Given the description of an element on the screen output the (x, y) to click on. 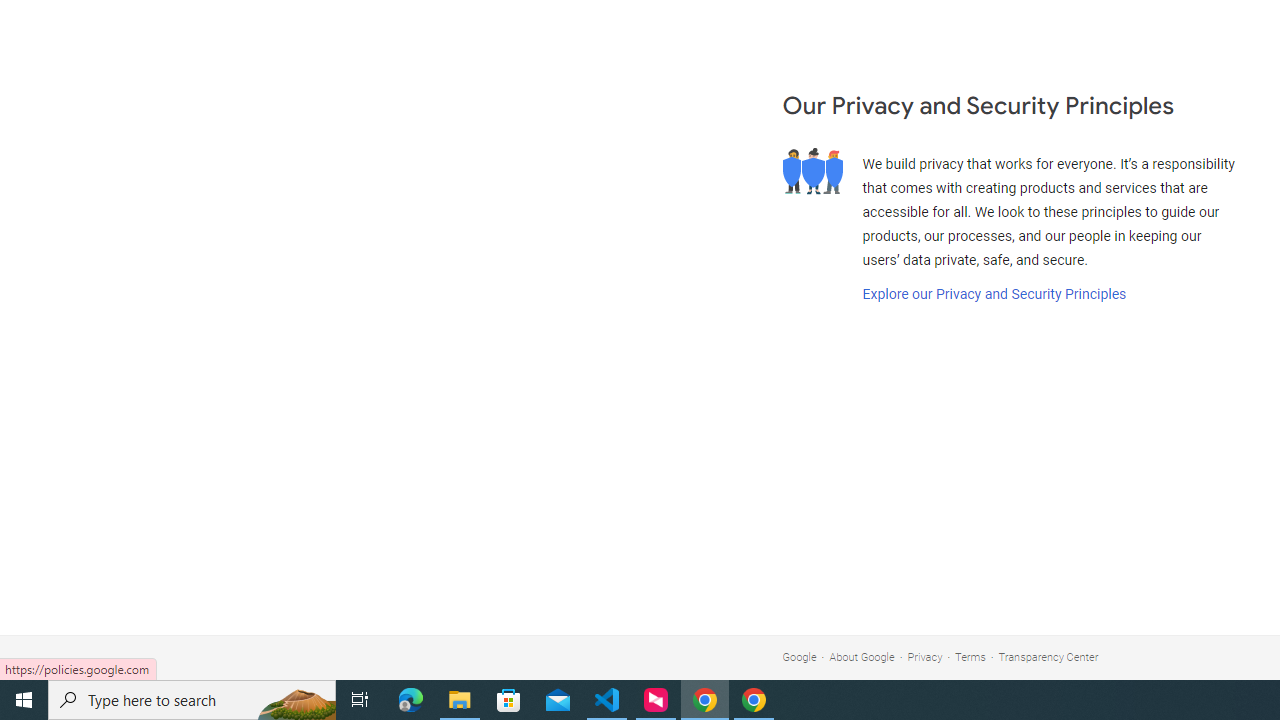
Transparency Center (1048, 656)
Explore our Privacy and Security Principles (993, 294)
About Google (861, 656)
